Given the description of an element on the screen output the (x, y) to click on. 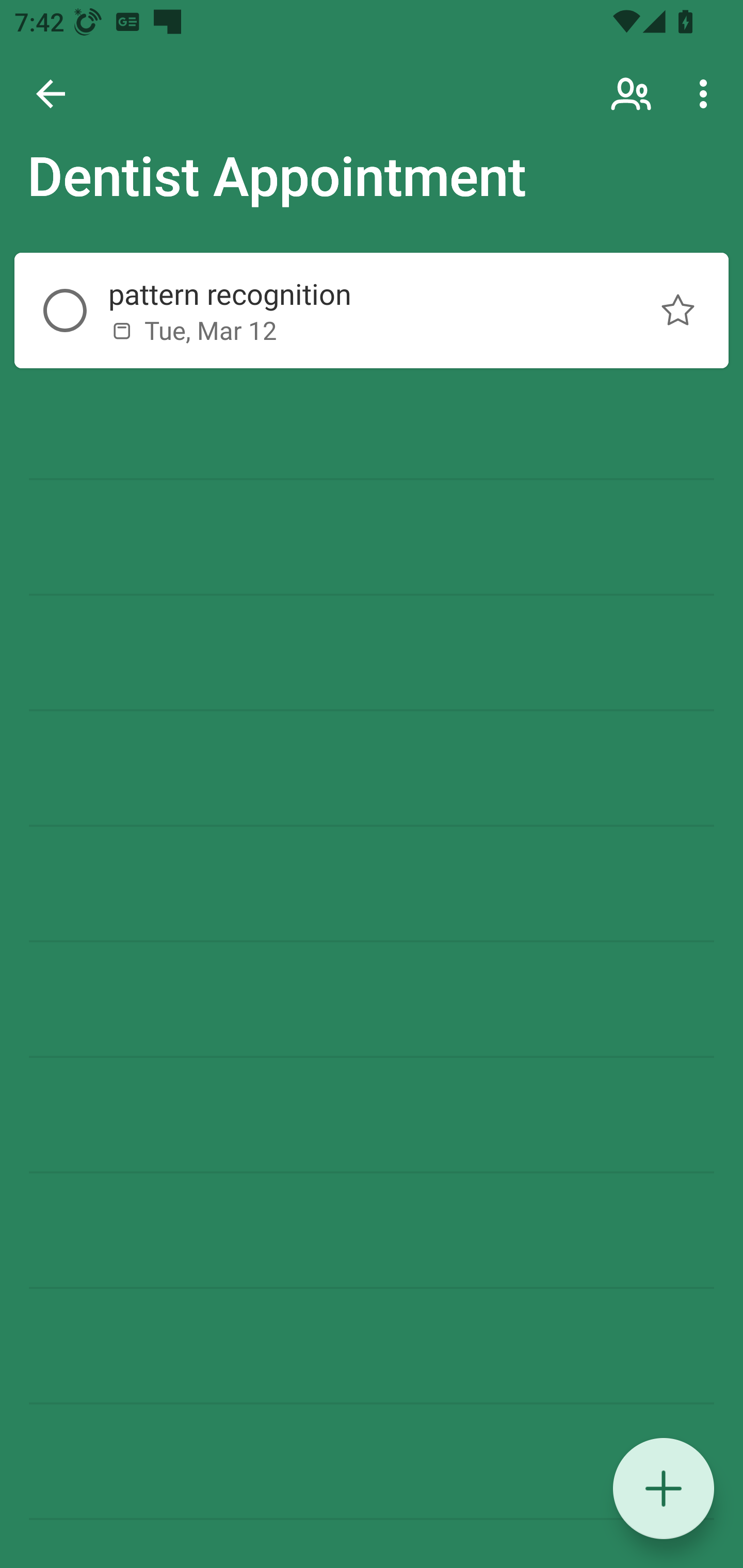
Back (50, 93)
Sharing options (632, 93)
More options (706, 93)
Incomplete task pattern recognition, Button (64, 310)
Normal task pattern recognition, Button (677, 310)
pattern recognition (356, 293)
Add a task (663, 1488)
